Given the description of an element on the screen output the (x, y) to click on. 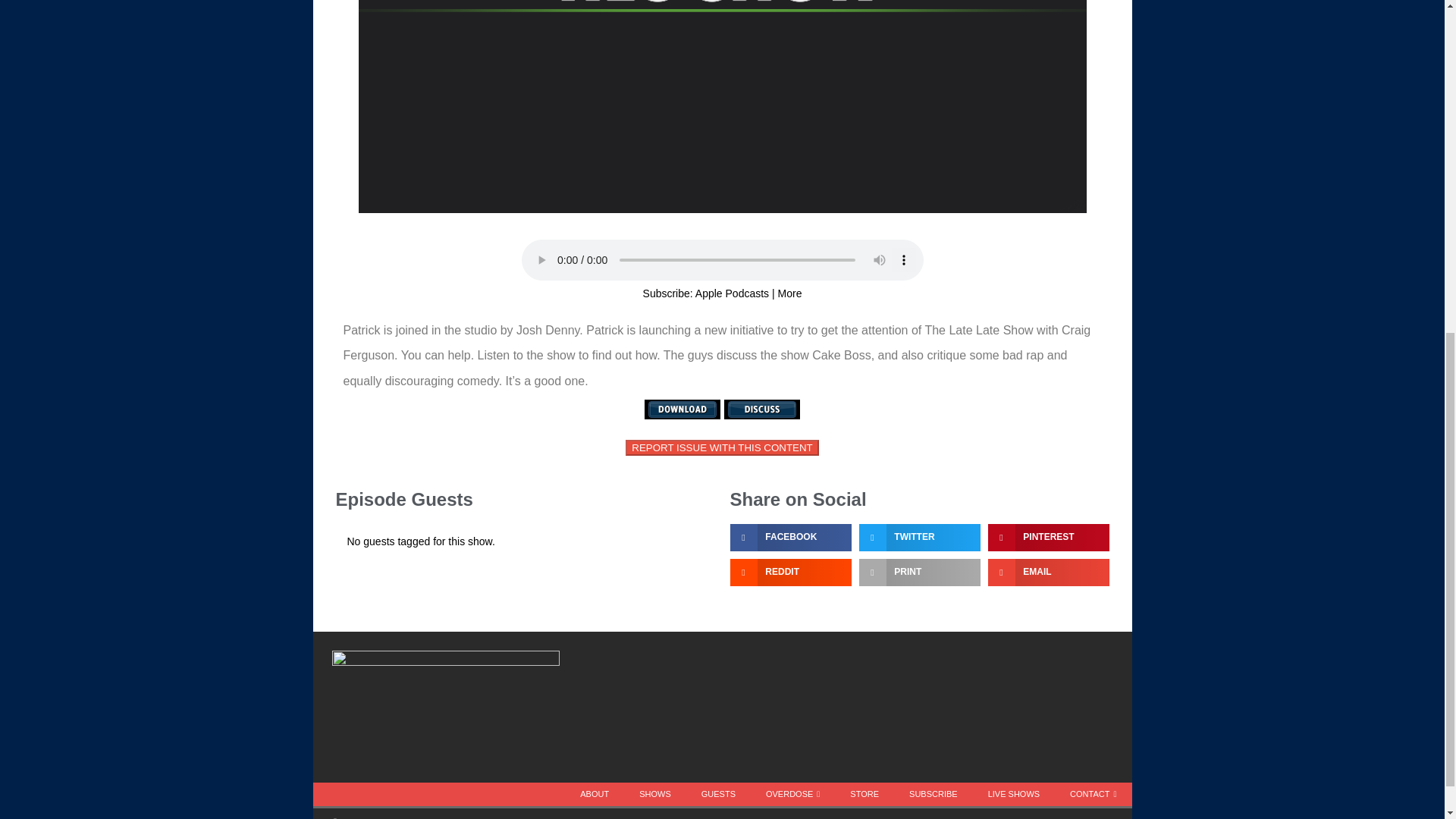
More (789, 293)
More (789, 293)
Subscribe on Apple Podcasts (731, 293)
Apple Podcasts (731, 293)
